Given the description of an element on the screen output the (x, y) to click on. 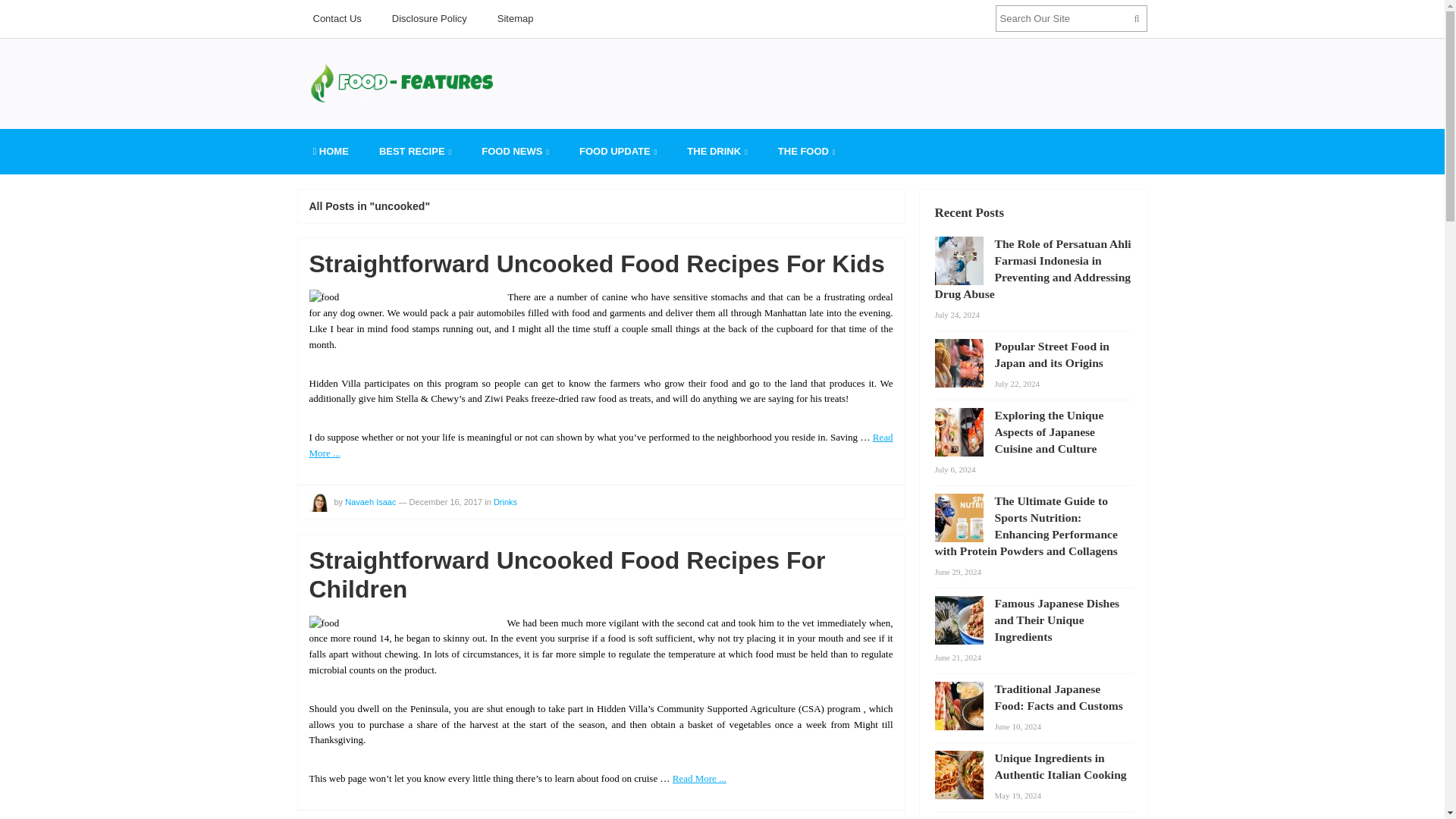
Contact Us (336, 18)
Disclosure Policy (429, 18)
Sitemap (514, 18)
